Given the description of an element on the screen output the (x, y) to click on. 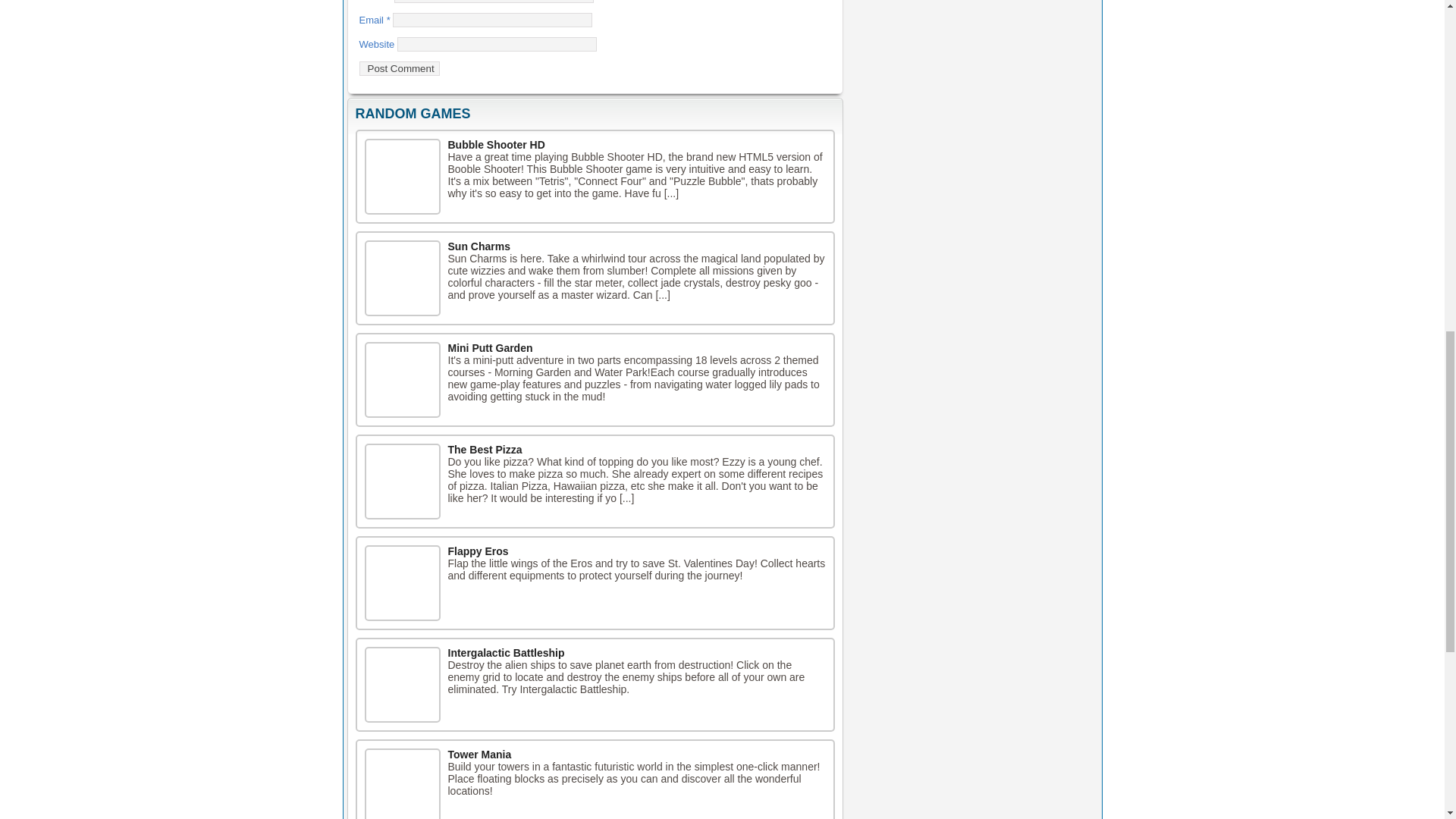
Bubble Shooter HD (401, 176)
The Best Pizza (483, 449)
Post Comment (399, 68)
Tower Mania (478, 754)
Sun Charms (401, 278)
Mini Putt Garden (489, 347)
Intergalactic Battleship (505, 653)
Flappy Eros (477, 551)
Bubble Shooter HD (495, 144)
Sun Charms (477, 246)
